Given the description of an element on the screen output the (x, y) to click on. 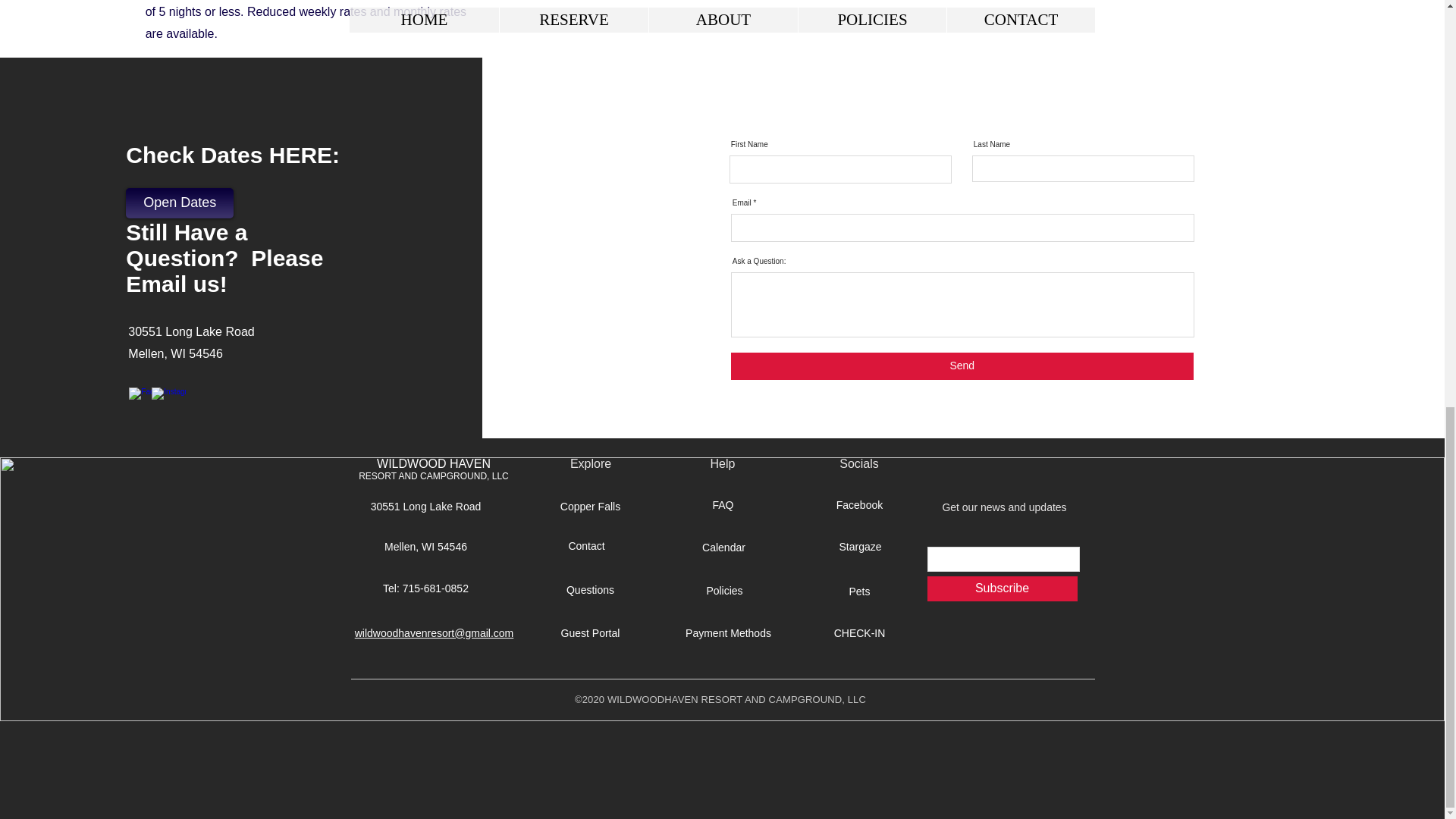
FAQ (722, 505)
Copper Falls (591, 506)
Calendar (722, 547)
WILDWOOD HAVEN (433, 463)
Send (961, 366)
Contact (586, 546)
Open Dates (178, 203)
